Given the description of an element on the screen output the (x, y) to click on. 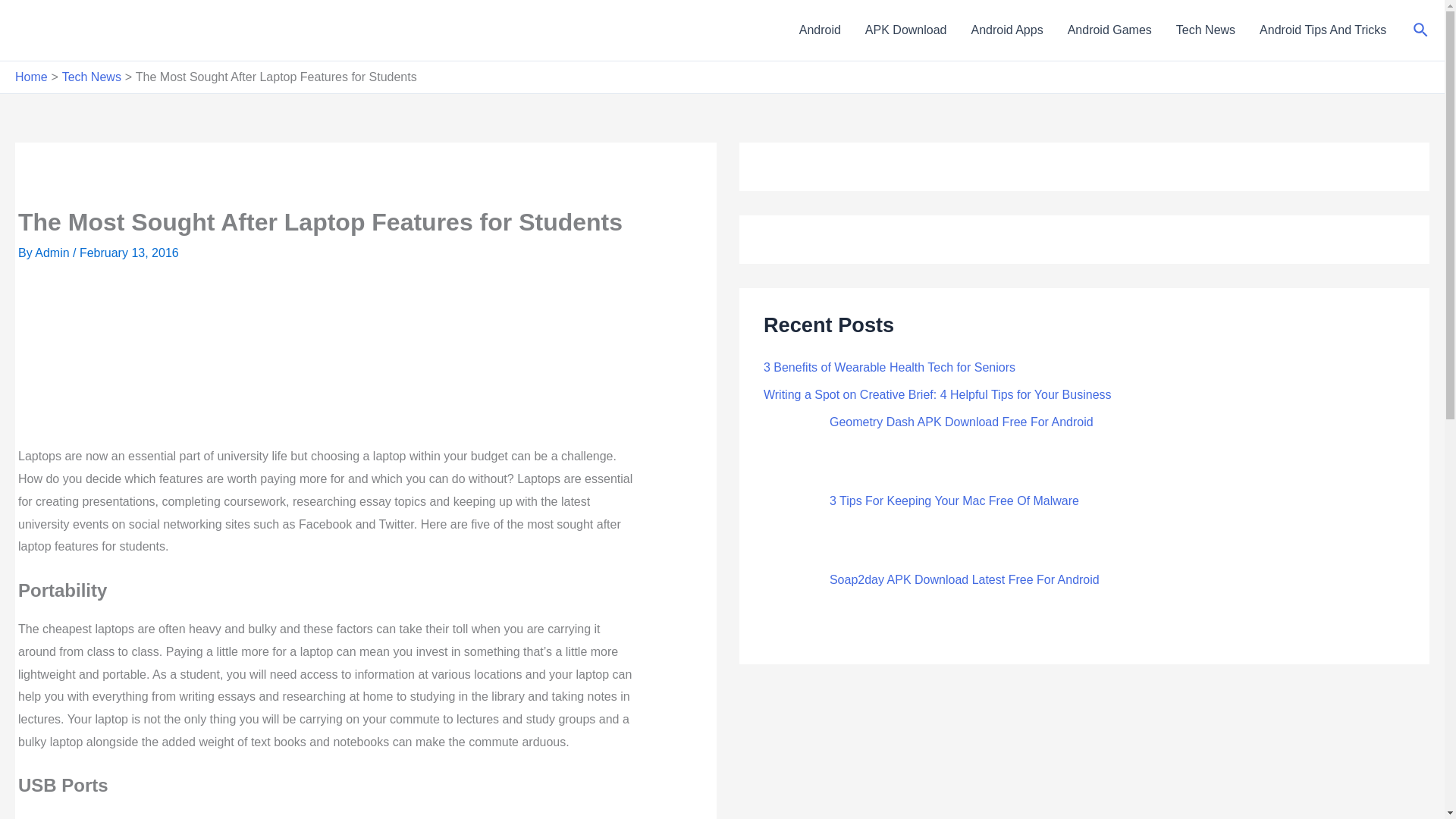
Android Apps (1006, 30)
Laptop Features for Students (326, 365)
3 Benefits of Wearable Health Tech for Seniors (888, 367)
3 Tips For Keeping Your Mac Free Of Malware (953, 500)
APK Download (906, 30)
Android (820, 30)
Admin (53, 252)
Tech News (1205, 30)
Geometry Dash APK Download Free For Android (961, 421)
View all posts by Admin (53, 252)
Android Games (1109, 30)
Home (31, 76)
Android Tips And Tricks (1322, 30)
Soap2day APK Download Latest Free For Android (964, 579)
